Given the description of an element on the screen output the (x, y) to click on. 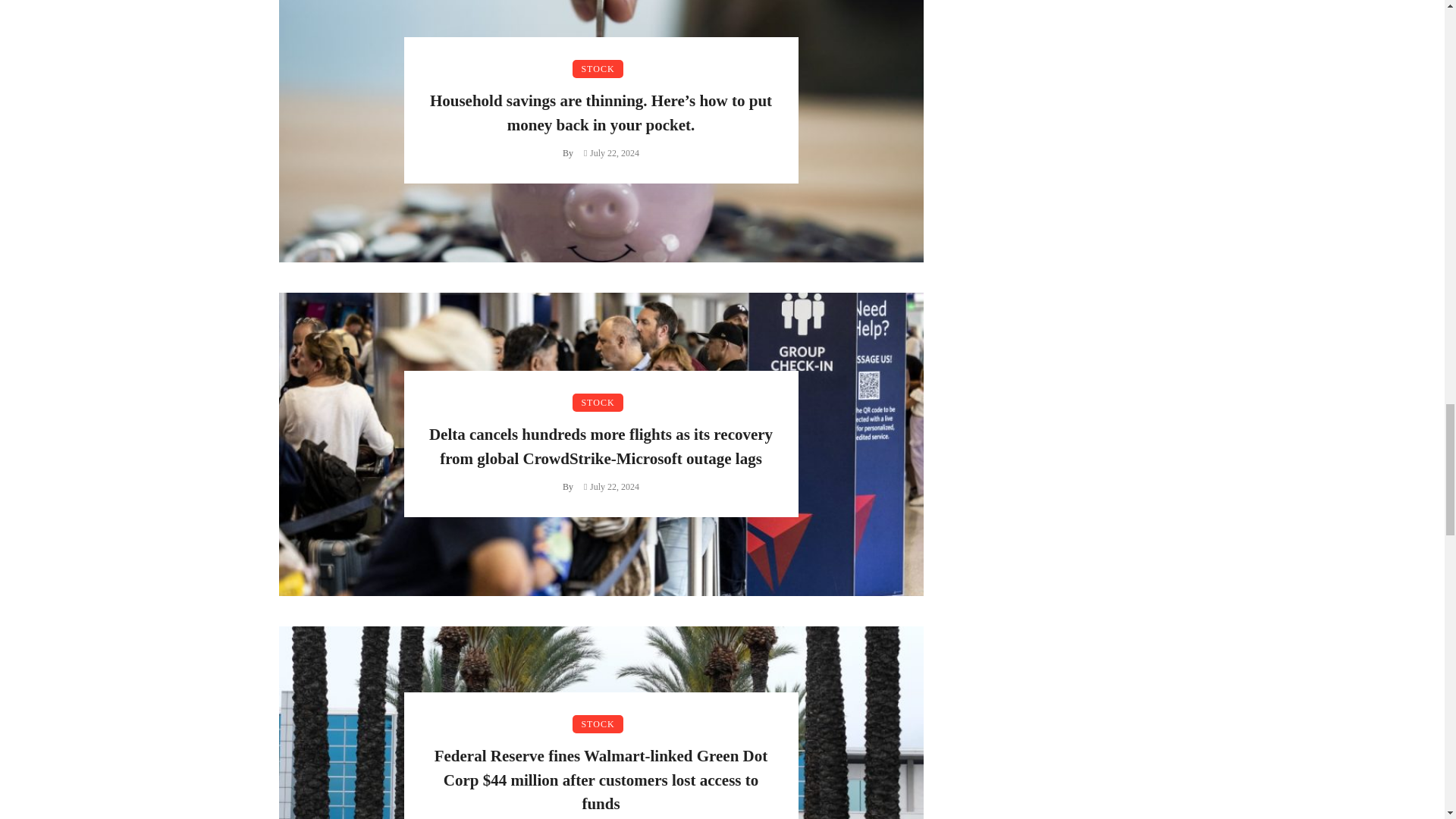
STOCK (597, 68)
STOCK (597, 402)
